Given the description of an element on the screen output the (x, y) to click on. 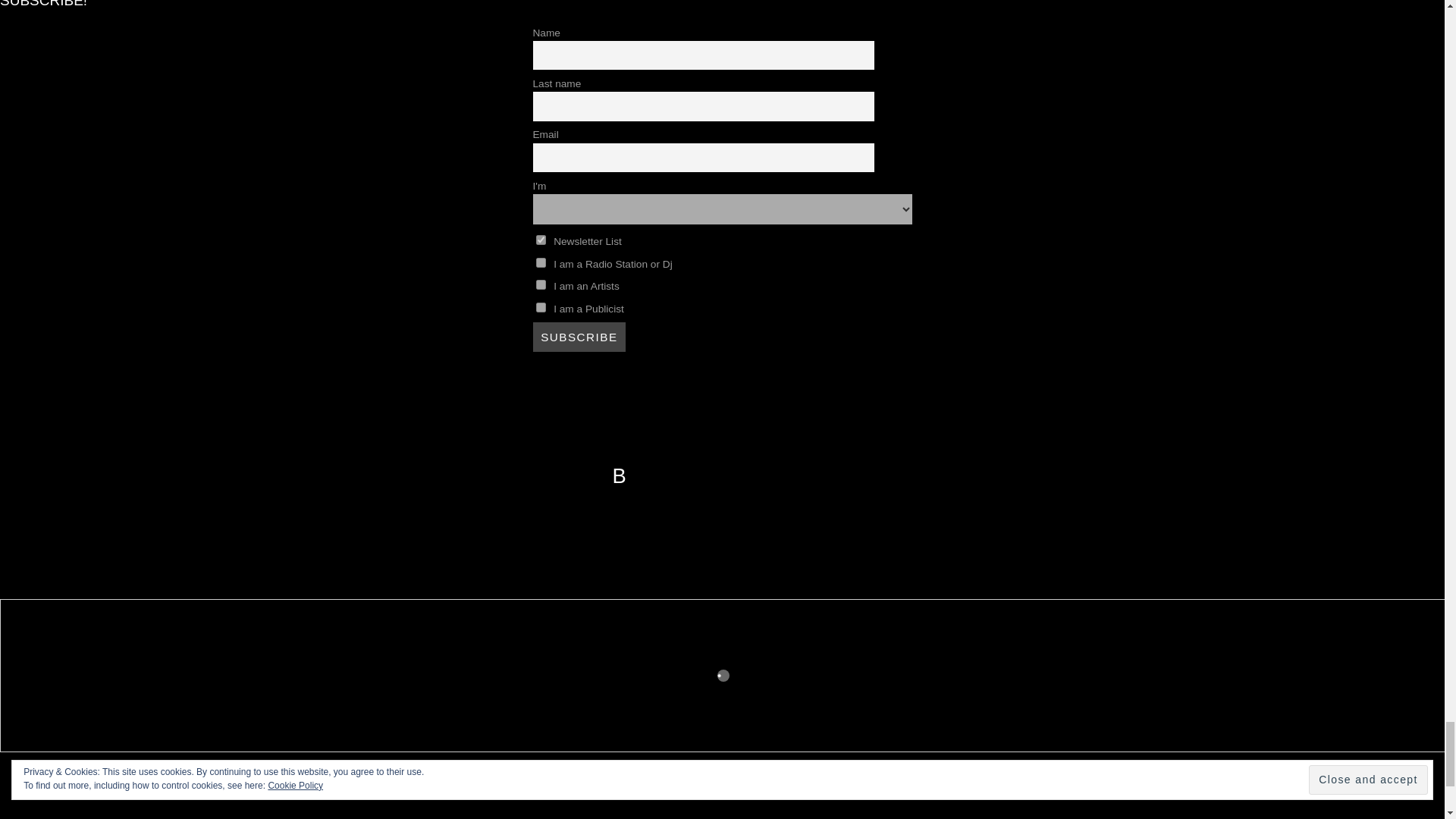
9 (539, 284)
3 (539, 262)
1 (539, 239)
Subscribe (579, 336)
10 (539, 307)
